Given the description of an element on the screen output the (x, y) to click on. 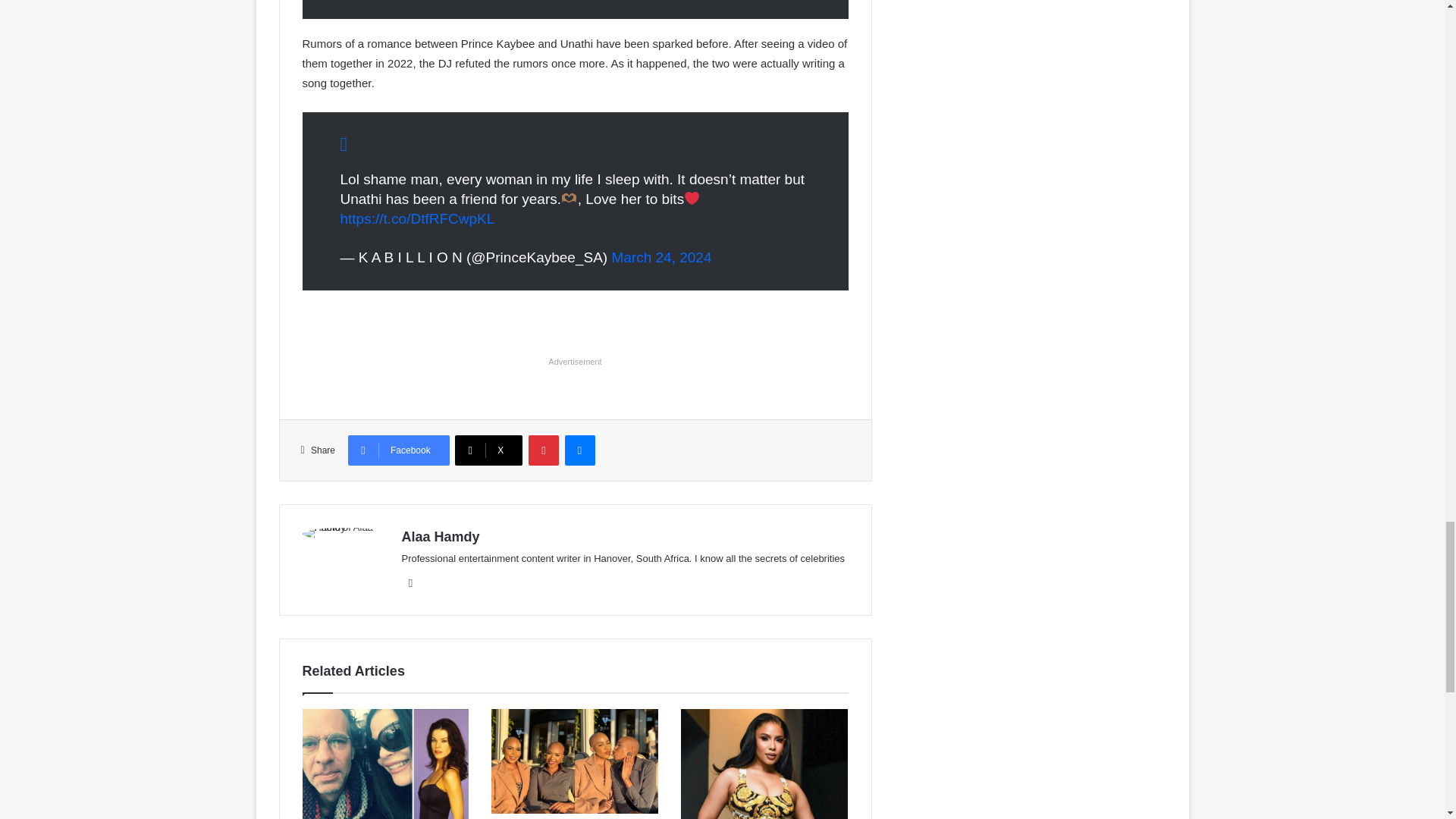
Facebook (398, 450)
Alaa Hamdy (440, 536)
March 24, 2024 (661, 257)
Pinterest (543, 450)
X (488, 450)
Messenger (579, 450)
Facebook (410, 583)
